Given the description of an element on the screen output the (x, y) to click on. 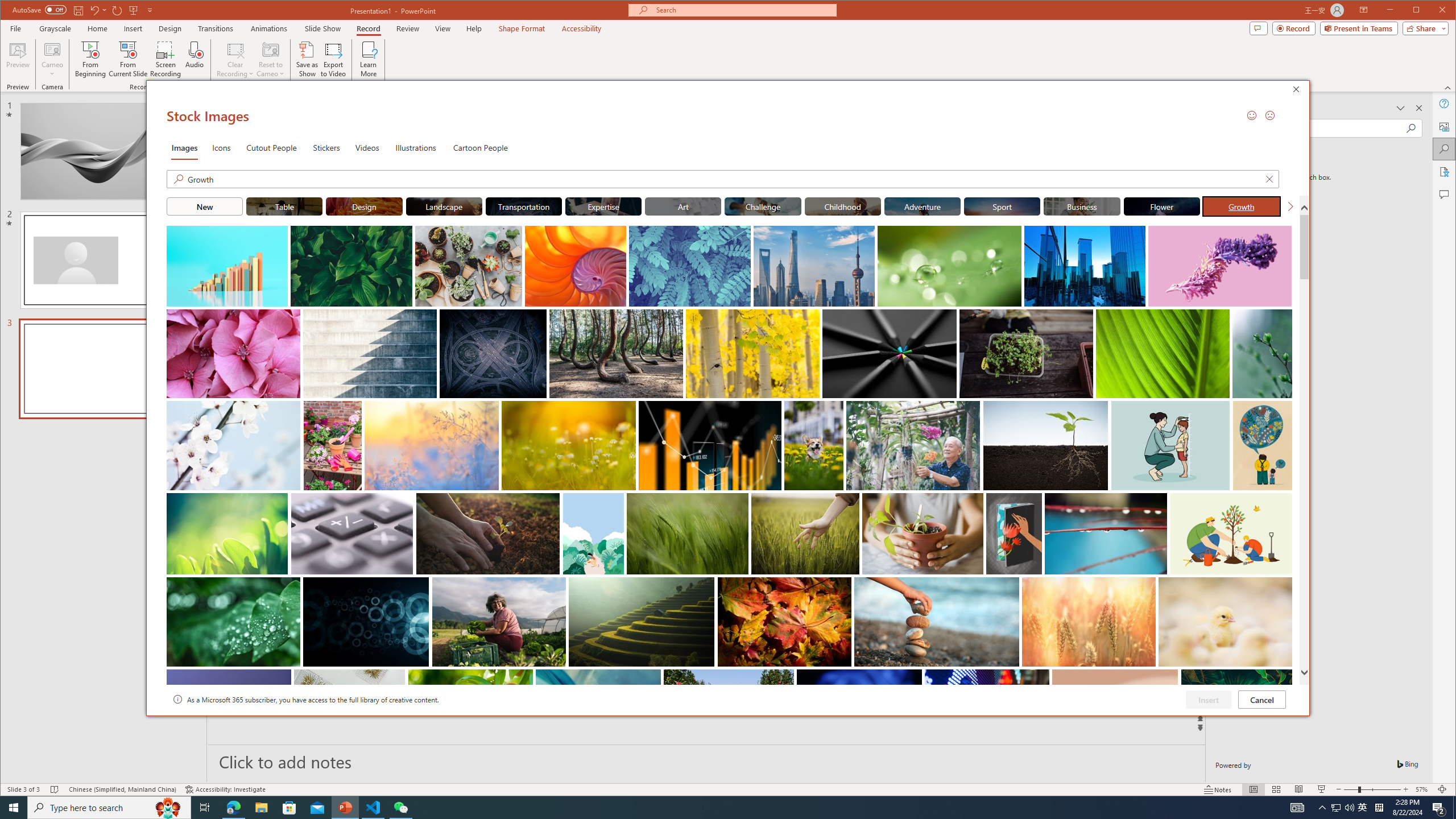
Visual Studio Code - 1 running window (373, 807)
Class: MsoCommandBar (728, 789)
"Challenge" Stock Images. (762, 206)
Screen Recording (165, 59)
Zoom (1371, 789)
Slide Notes (706, 761)
Notification Chevron (1322, 807)
Next Search Suggestion (1290, 206)
